Given the description of an element on the screen output the (x, y) to click on. 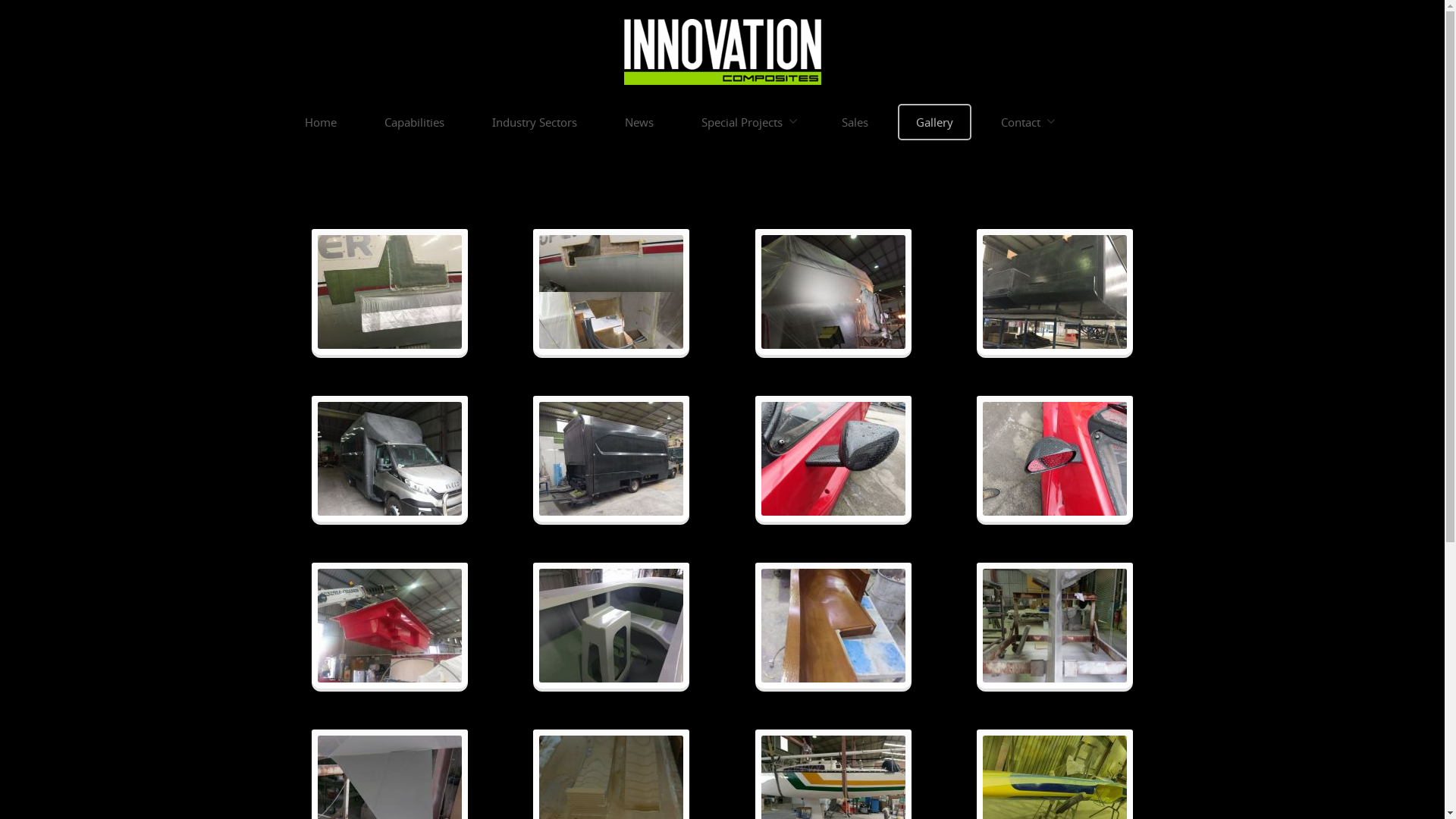
Gallery Element type: text (934, 121)
sydney 36 repair a Element type: hover (389, 291)
super rv (2) Element type: hover (1054, 291)
Capabilities Element type: text (413, 121)
Home Element type: text (320, 121)
14329935 1289332354424268 628301947944258037 n Element type: hover (1054, 625)
Special Projects Element type: text (746, 121)
14355061 1295111643846339 590608664316758948 n Element type: hover (833, 625)
super rv3 Element type: hover (389, 458)
car mirror 1 Element type: hover (833, 458)
Industry Sectors Element type: text (533, 121)
sydney 36 repair Element type: hover (611, 291)
super rv4 (2) Element type: hover (611, 458)
sydney 36 repair b Element type: hover (833, 291)
Sales Element type: text (854, 121)
car mirror Element type: hover (1054, 458)
Contact Element type: text (1026, 121)
14470623 1298487013508802 5836217750016614041 n Element type: hover (389, 625)
14358718 1289332191090951 9114631719512283423 n Element type: hover (611, 625)
News Element type: text (639, 121)
